Given the description of an element on the screen output the (x, y) to click on. 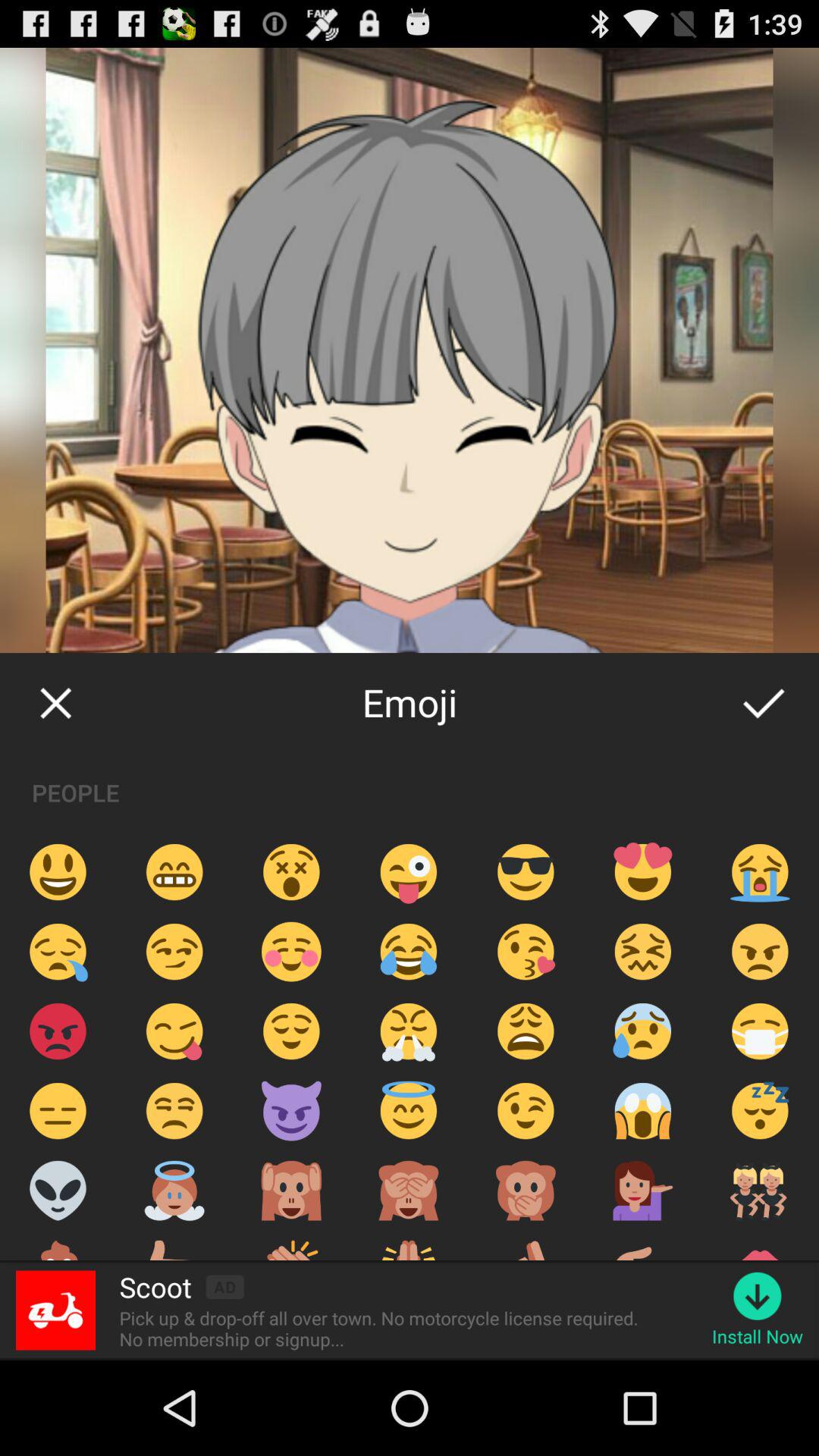
scroll to the scoot item (155, 1286)
